Given the description of an element on the screen output the (x, y) to click on. 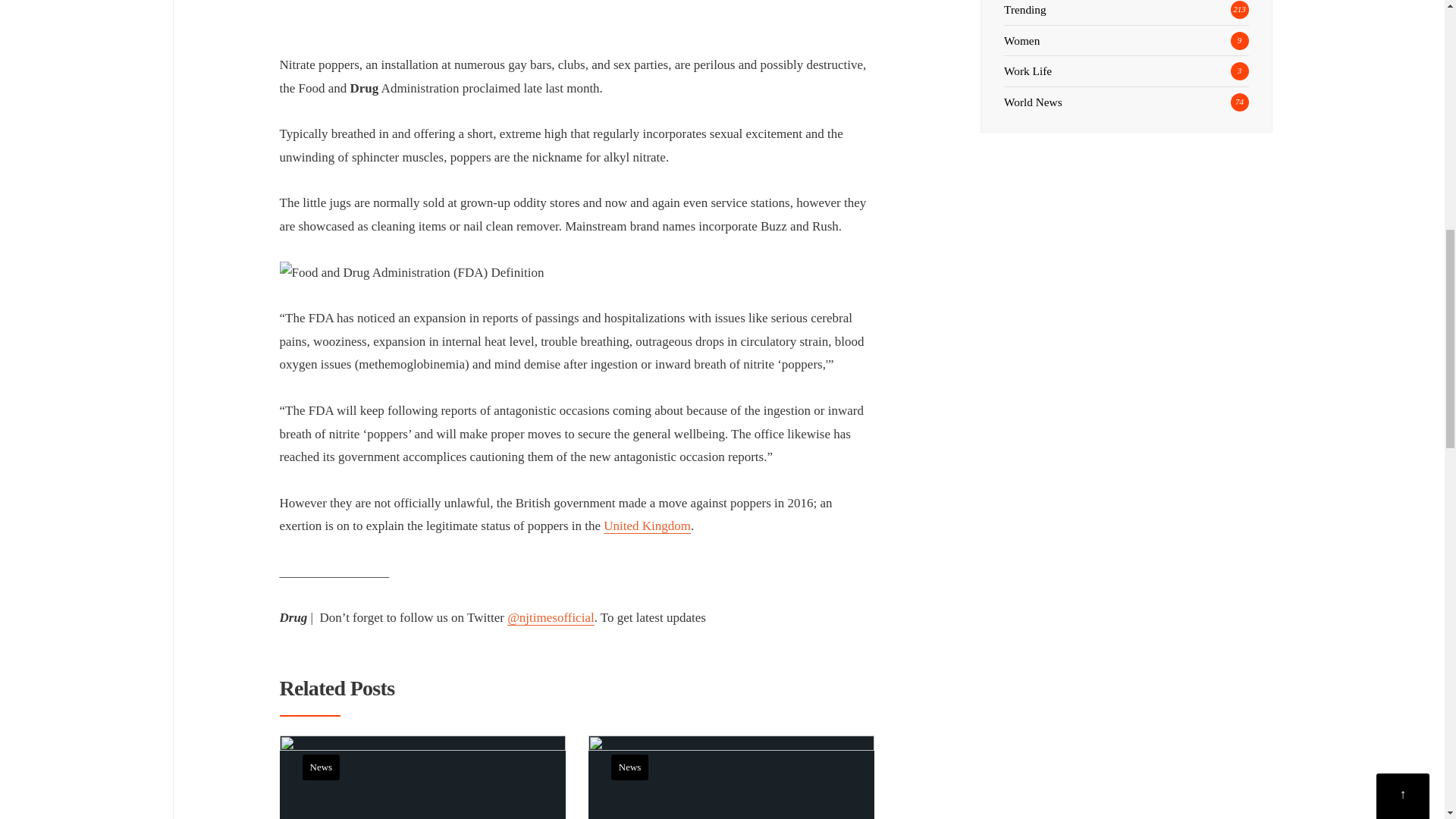
News (319, 767)
United Kingdom (647, 525)
Scroll to top (1402, 1)
News (630, 767)
